Given the description of an element on the screen output the (x, y) to click on. 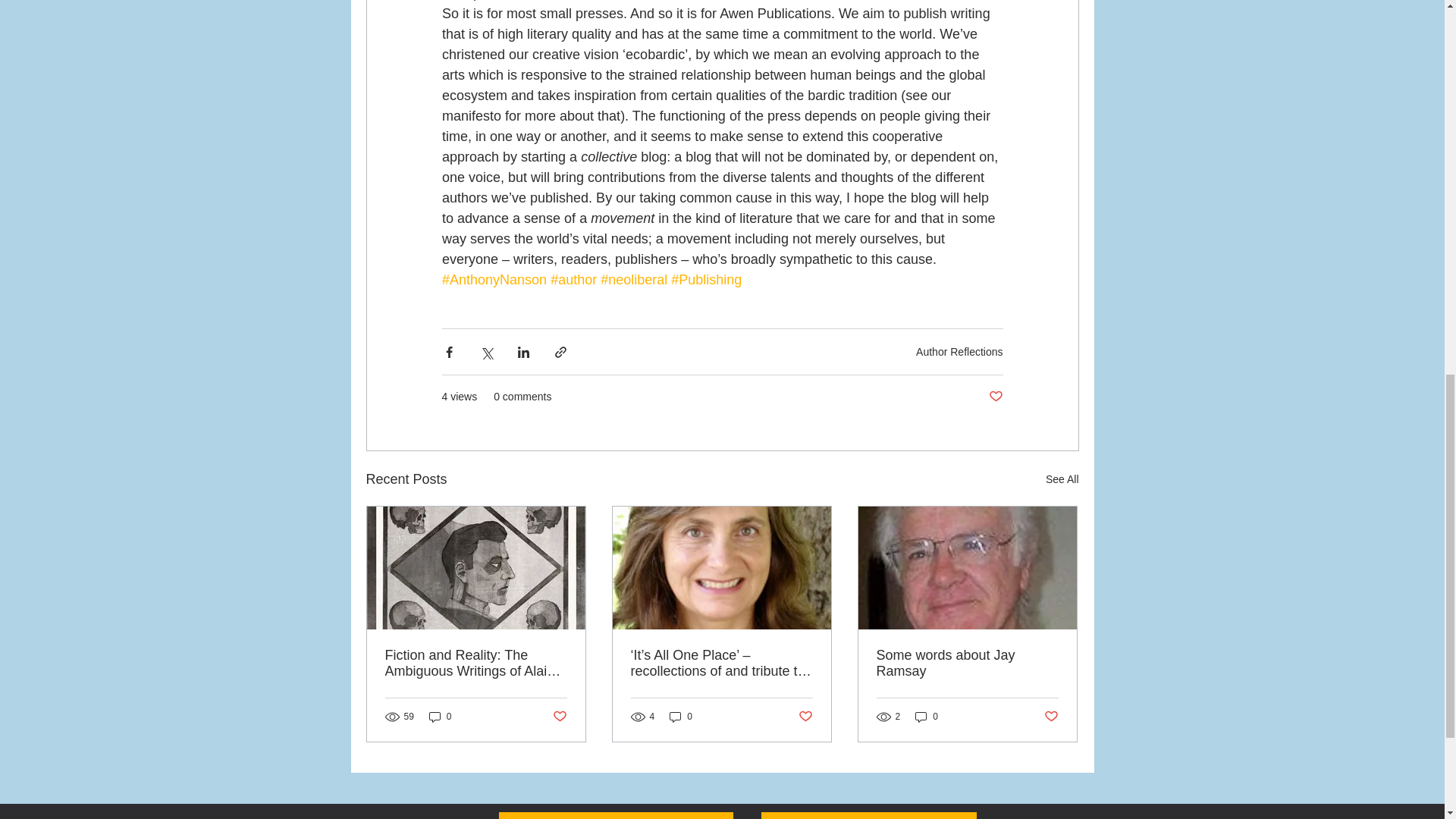
See All (1061, 479)
Post not marked as liked (558, 716)
0 (440, 716)
Post not marked as liked (995, 396)
Author Reflections (959, 351)
